Given the description of an element on the screen output the (x, y) to click on. 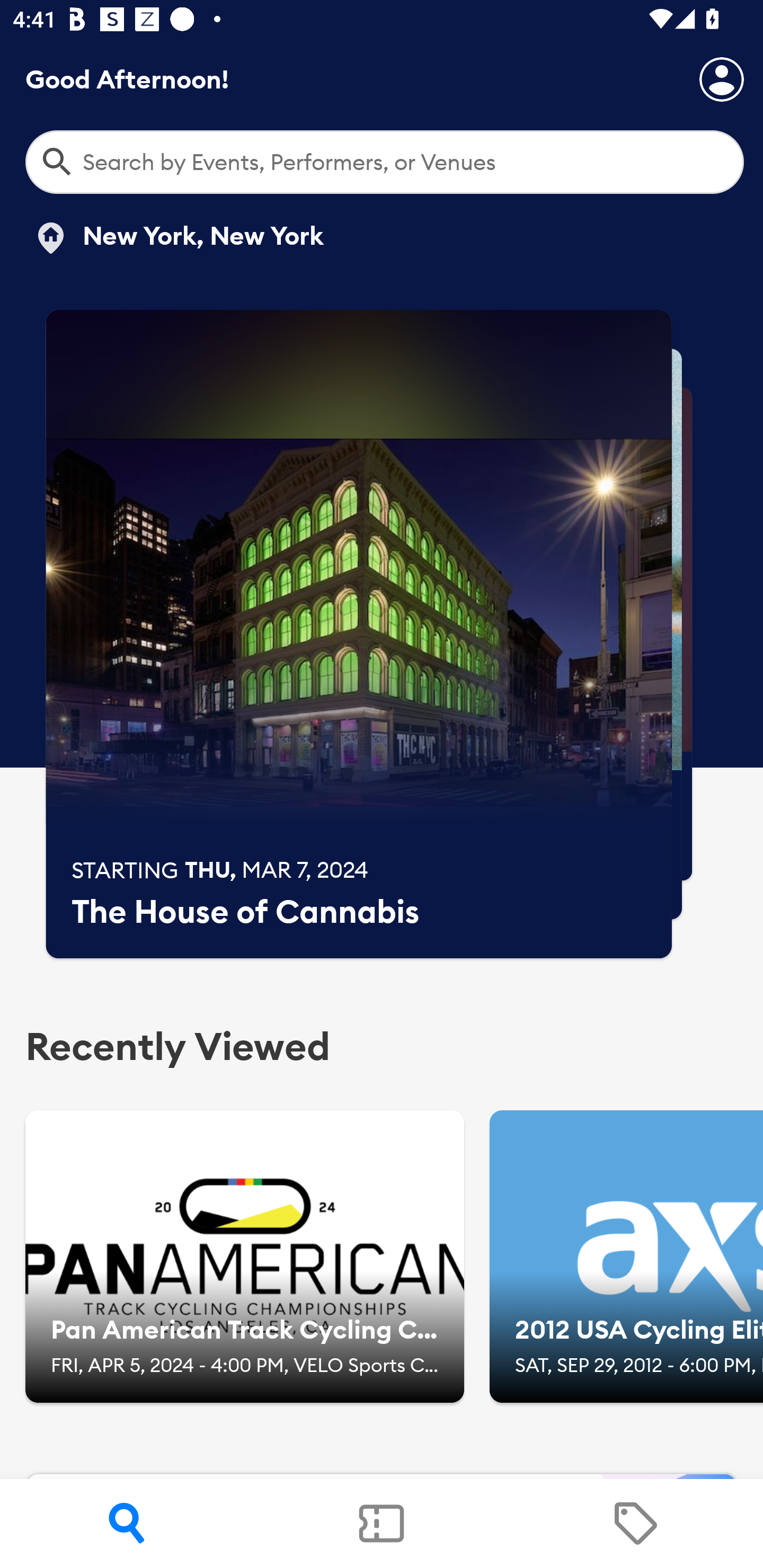
UserIcon (721, 78)
Search by Events, Performers, or Venues (384, 161)
New York, New York (177, 237)
STARTING THU, MAR 7, 2024 The House of Cannabis (358, 634)
Menu Item: Tickets (381, 1523)
Menu Item: Resale (635, 1523)
